Given the description of an element on the screen output the (x, y) to click on. 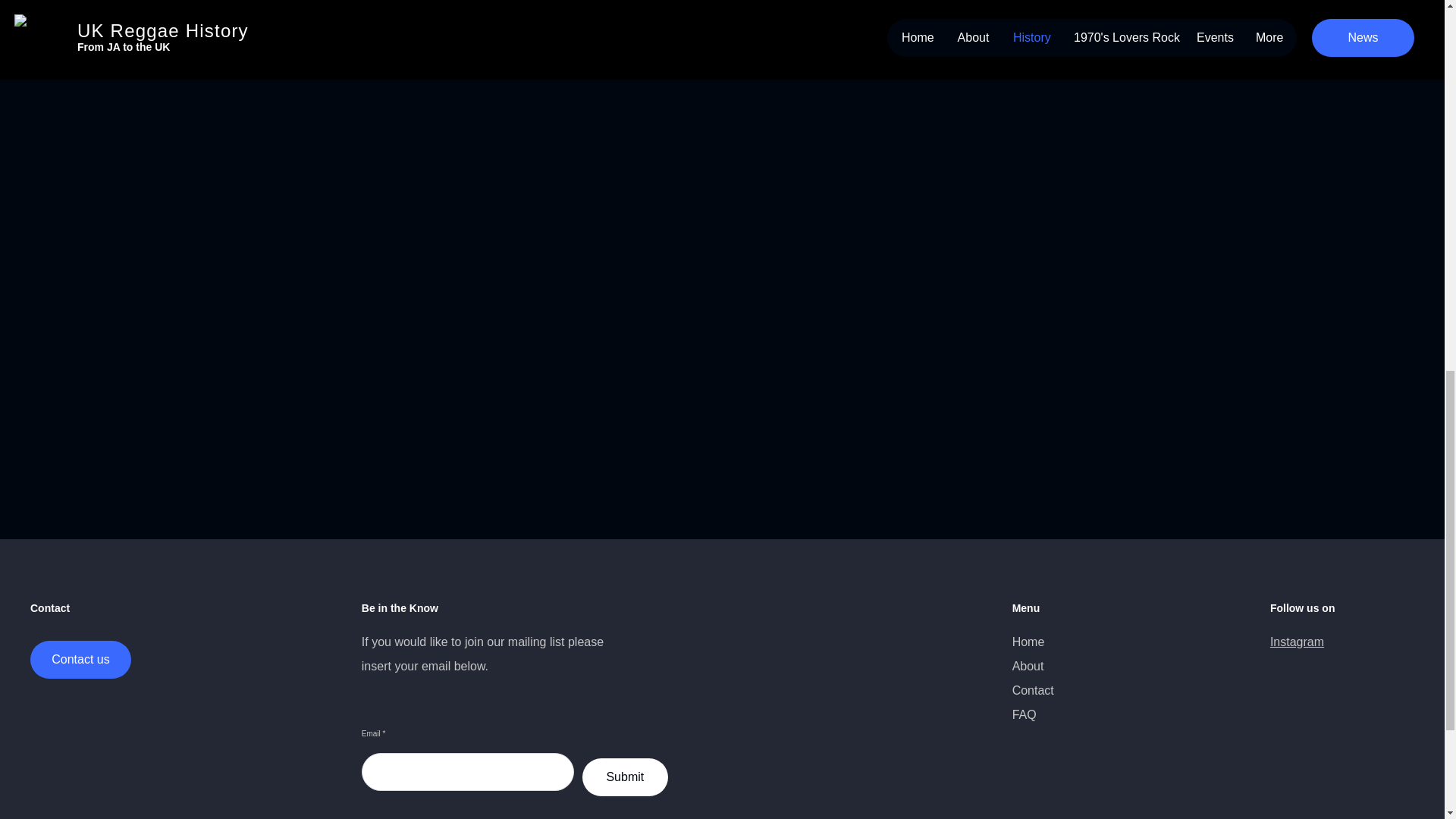
FAQ (1023, 714)
Home (1028, 641)
Contact us (80, 659)
Contact (1032, 689)
About (1027, 666)
Submit (625, 777)
Instagram (1296, 641)
